Given the description of an element on the screen output the (x, y) to click on. 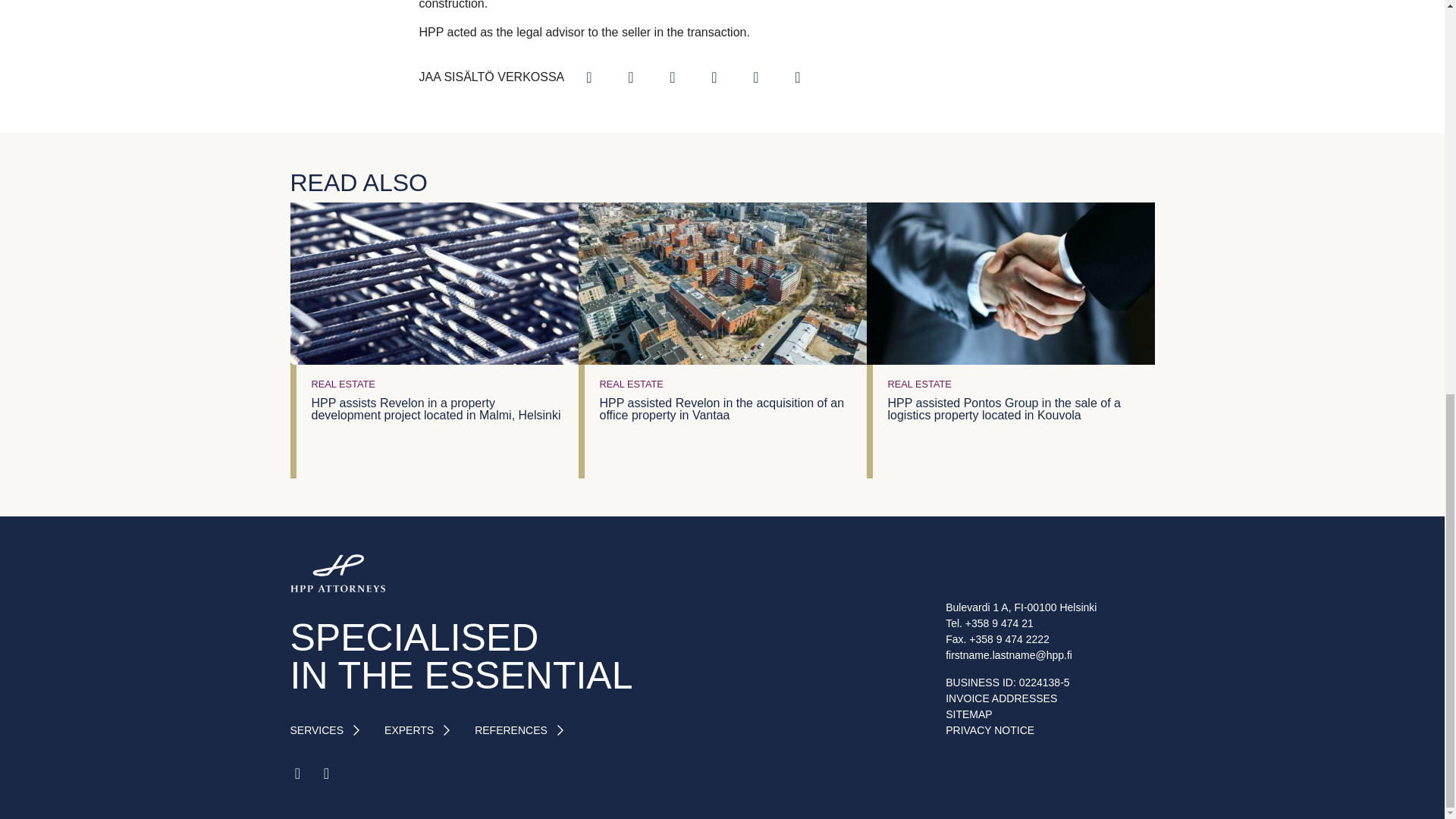
PRIVACY NOTICE (988, 729)
INVOICE ADDRESSES (1000, 698)
SITEMAP (967, 714)
